Given the description of an element on the screen output the (x, y) to click on. 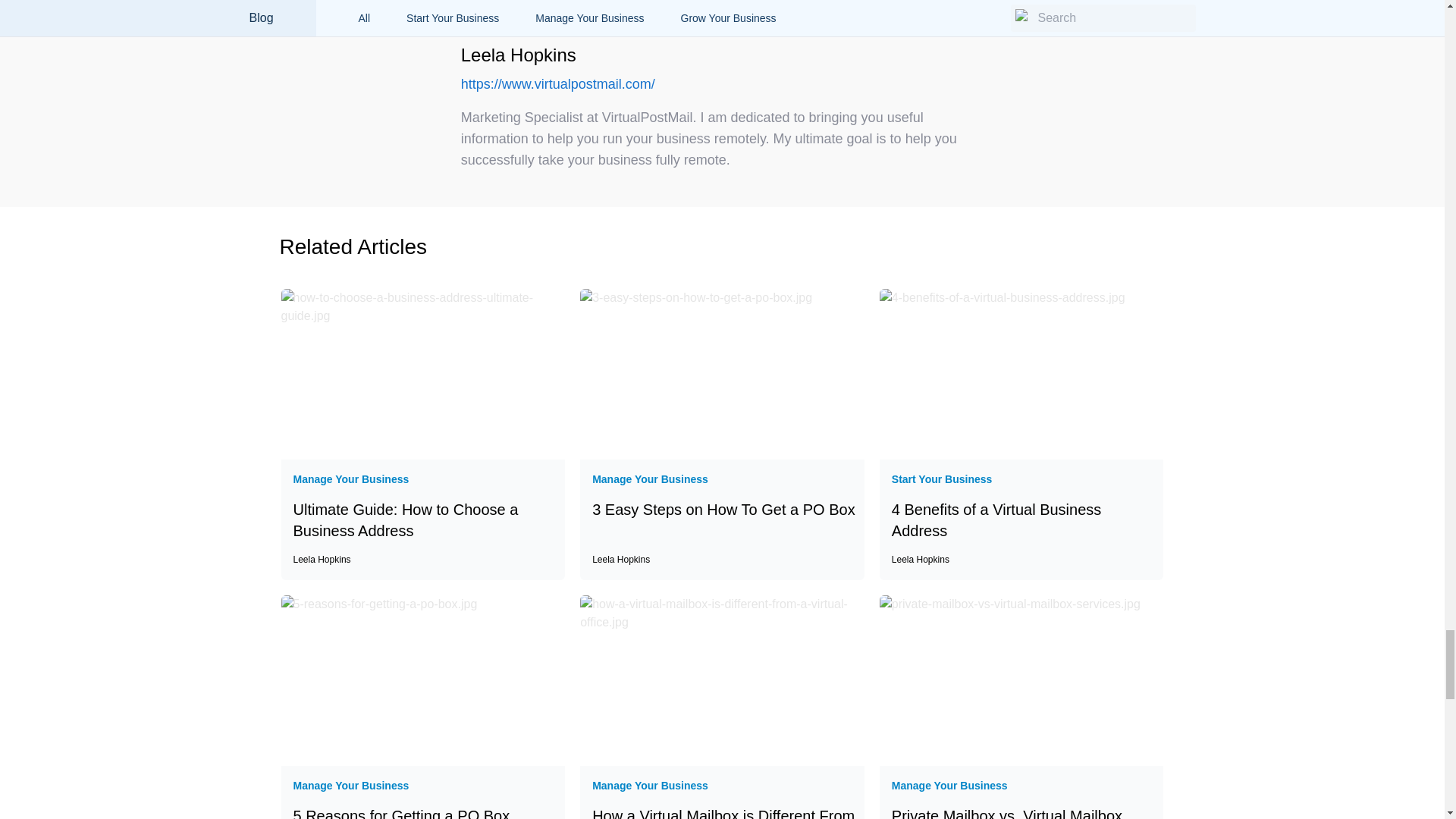
Manage Your Business (649, 479)
Manage Your Business (719, 531)
Start Your Business (350, 479)
